Given the description of an element on the screen output the (x, y) to click on. 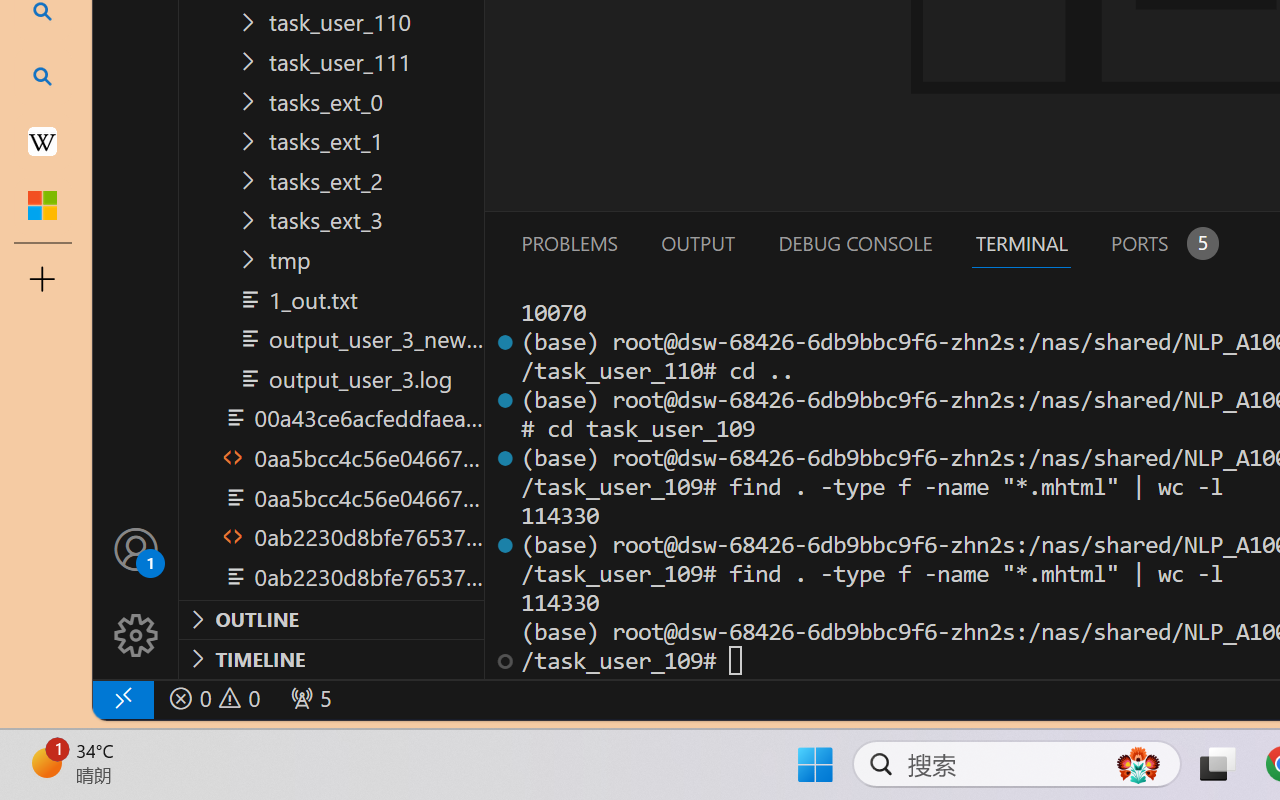
Timeline Section (331, 658)
Debug Console (Ctrl+Shift+Y) (854, 243)
Problems (Ctrl+Shift+M) (567, 243)
Accounts - Sign in requested (135, 548)
Forwarded Ports: 36301, 47065, 38781, 45817, 50331 (308, 698)
Manage (135, 591)
remote (122, 698)
Outline Section (331, 619)
No Problems (212, 698)
Terminal (Ctrl+`) (1021, 243)
